Given the description of an element on the screen output the (x, y) to click on. 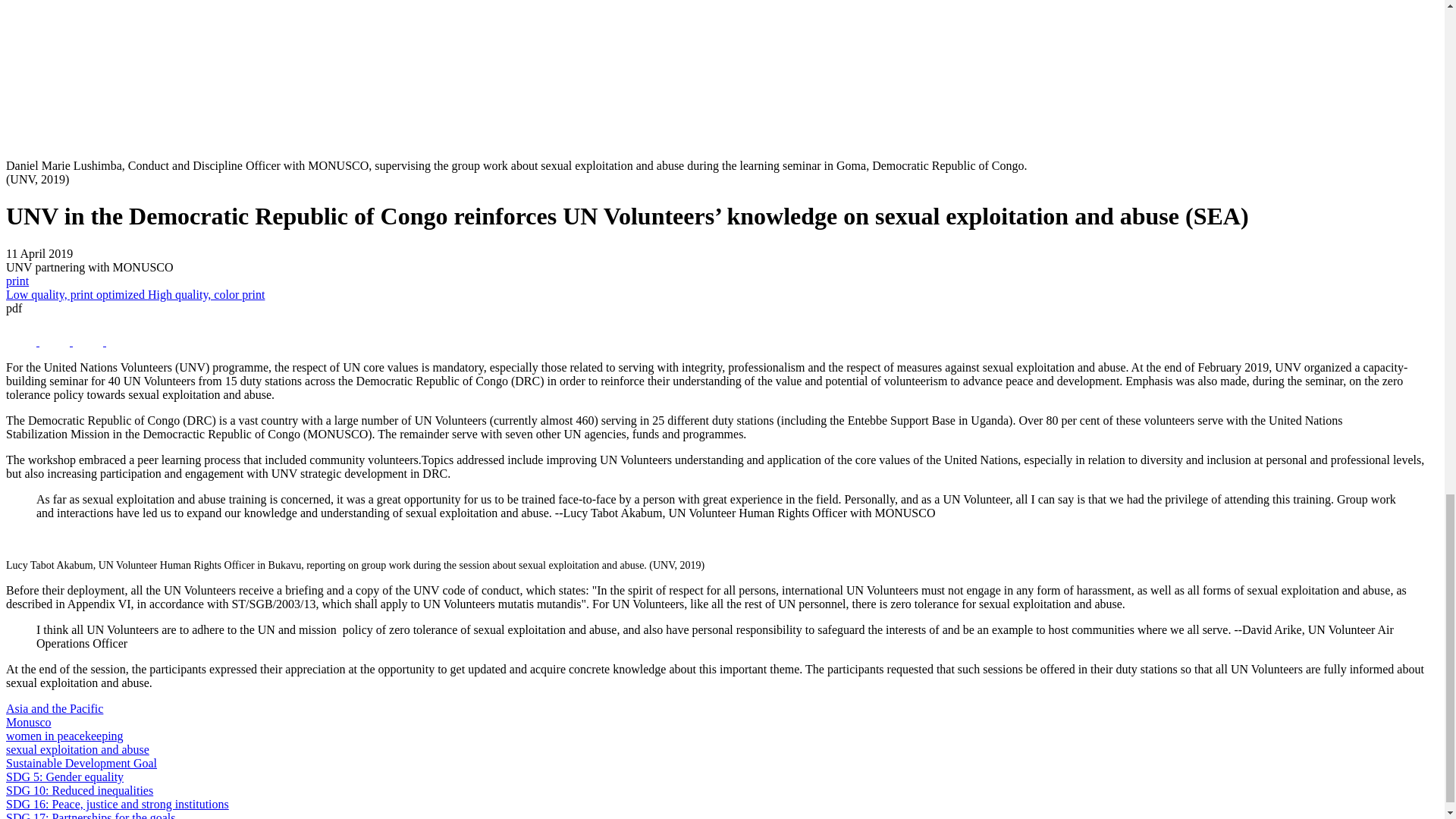
Share to Linkedin (89, 341)
Share to Facebook (55, 341)
Share to Email (121, 341)
Share to X (22, 341)
